Given the description of an element on the screen output the (x, y) to click on. 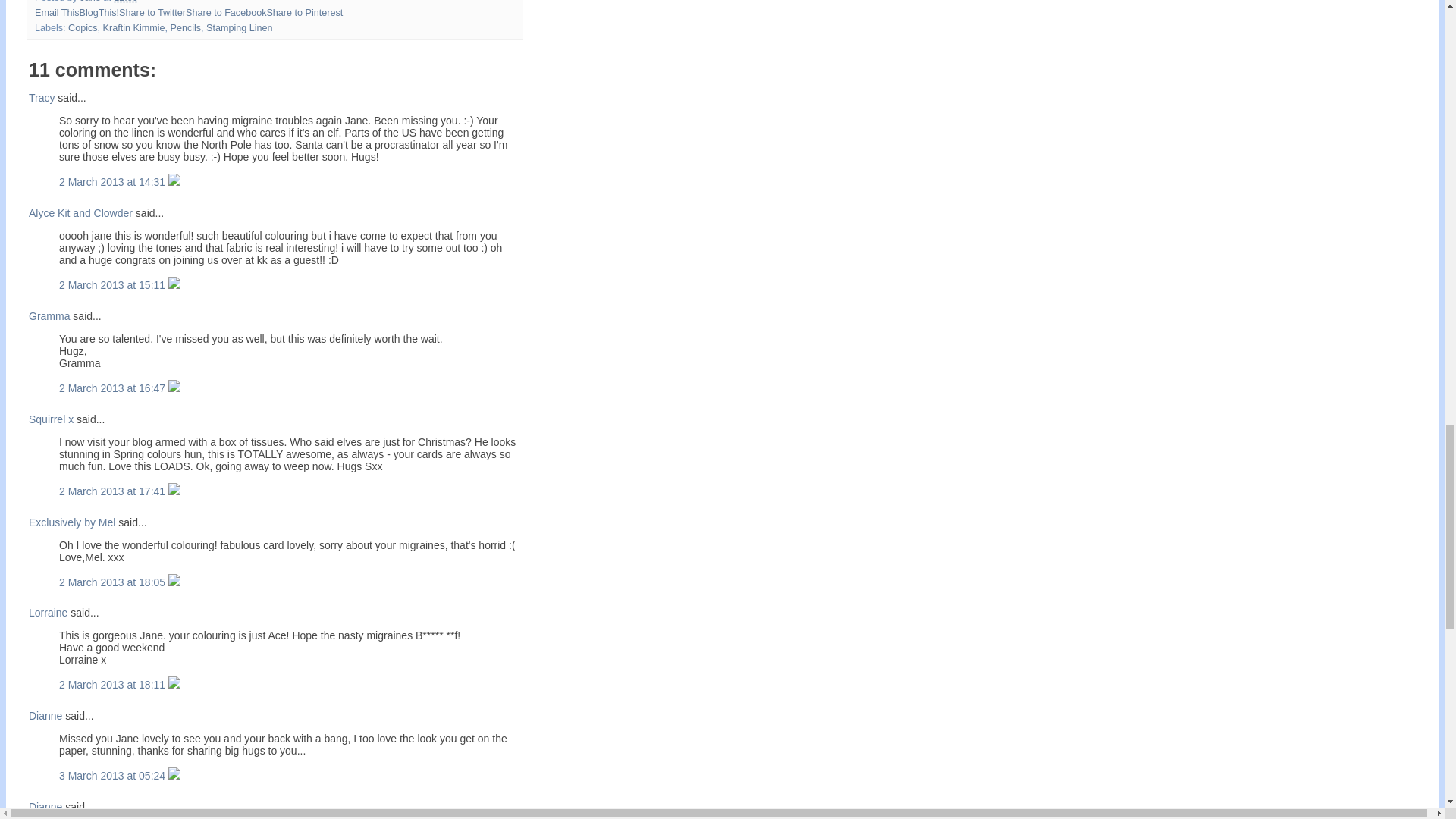
comment permalink (113, 387)
Alyce Kit and Clowder (80, 213)
BlogThis! (99, 12)
Jane (91, 1)
Share to Facebook (226, 12)
comment permalink (113, 182)
comment permalink (113, 285)
Delete Comment (174, 285)
permanent link (125, 1)
Share to Twitter (152, 12)
